Given the description of an element on the screen output the (x, y) to click on. 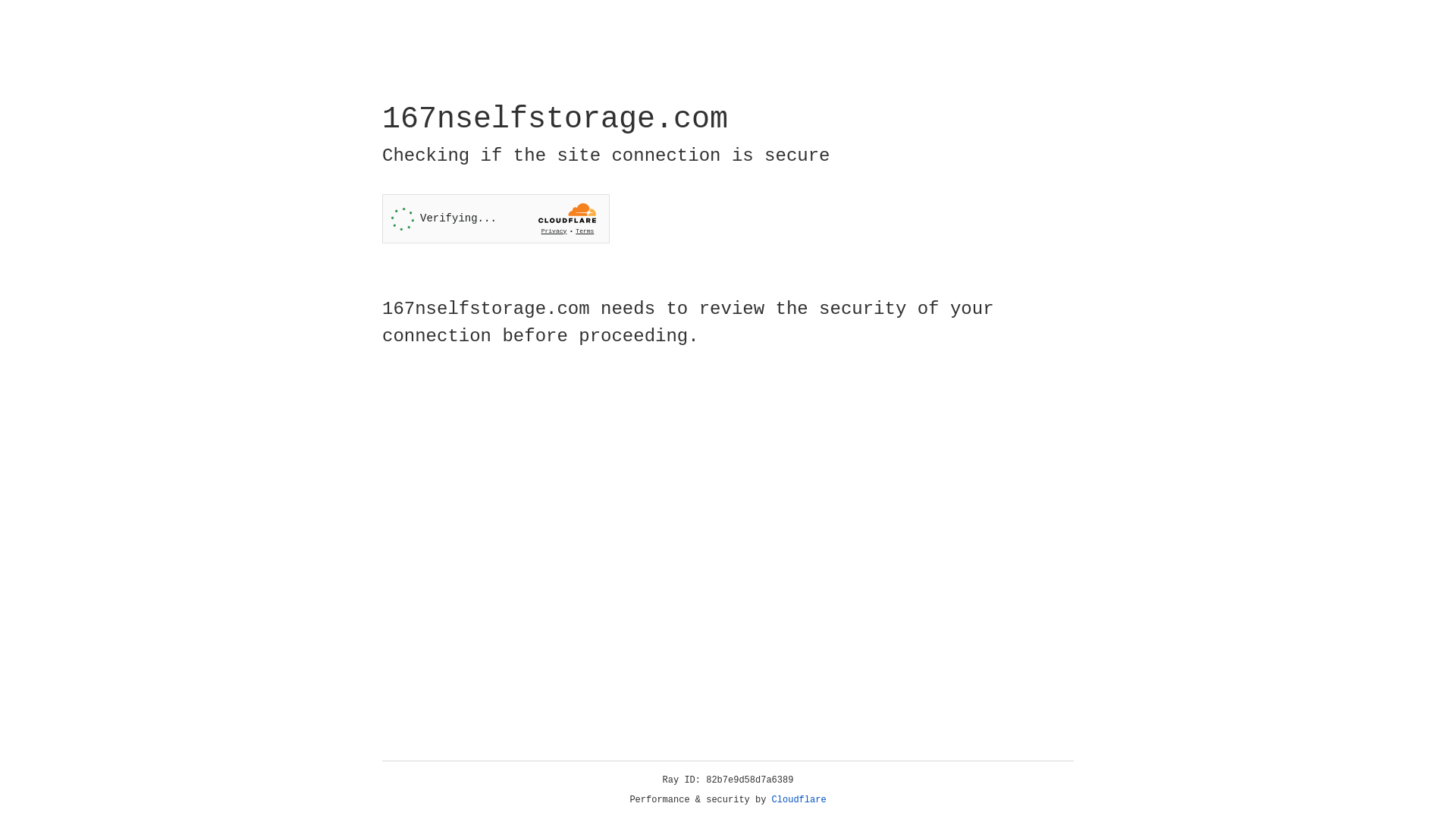
Cloudflare Element type: text (798, 799)
Widget containing a Cloudflare security challenge Element type: hover (495, 218)
